Given the description of an element on the screen output the (x, y) to click on. 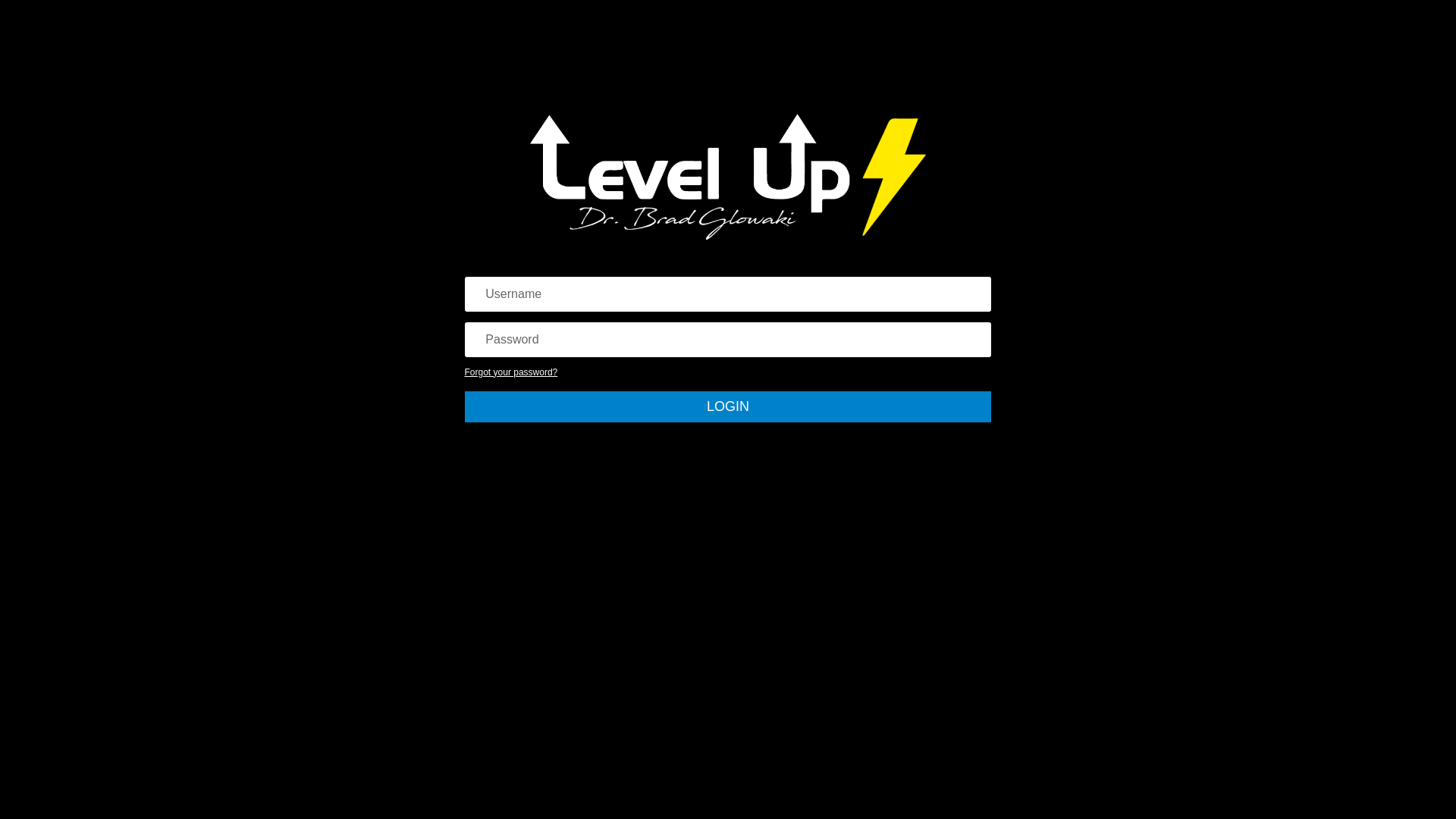
Forgot your password? Element type: text (511, 372)
LOGIN Element type: text (727, 406)
